Given the description of an element on the screen output the (x, y) to click on. 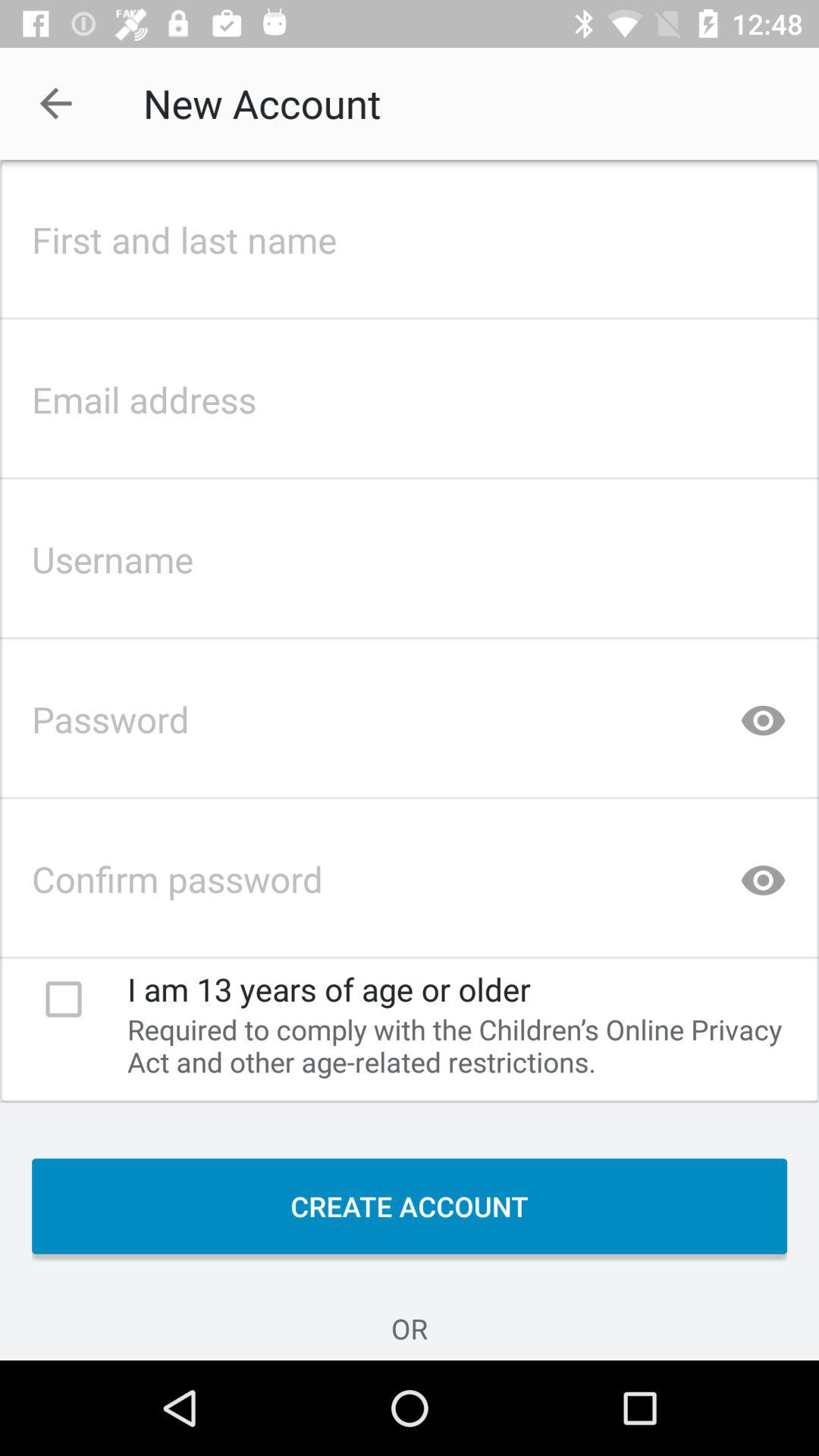
go to toggle name (409, 235)
